Given the description of an element on the screen output the (x, y) to click on. 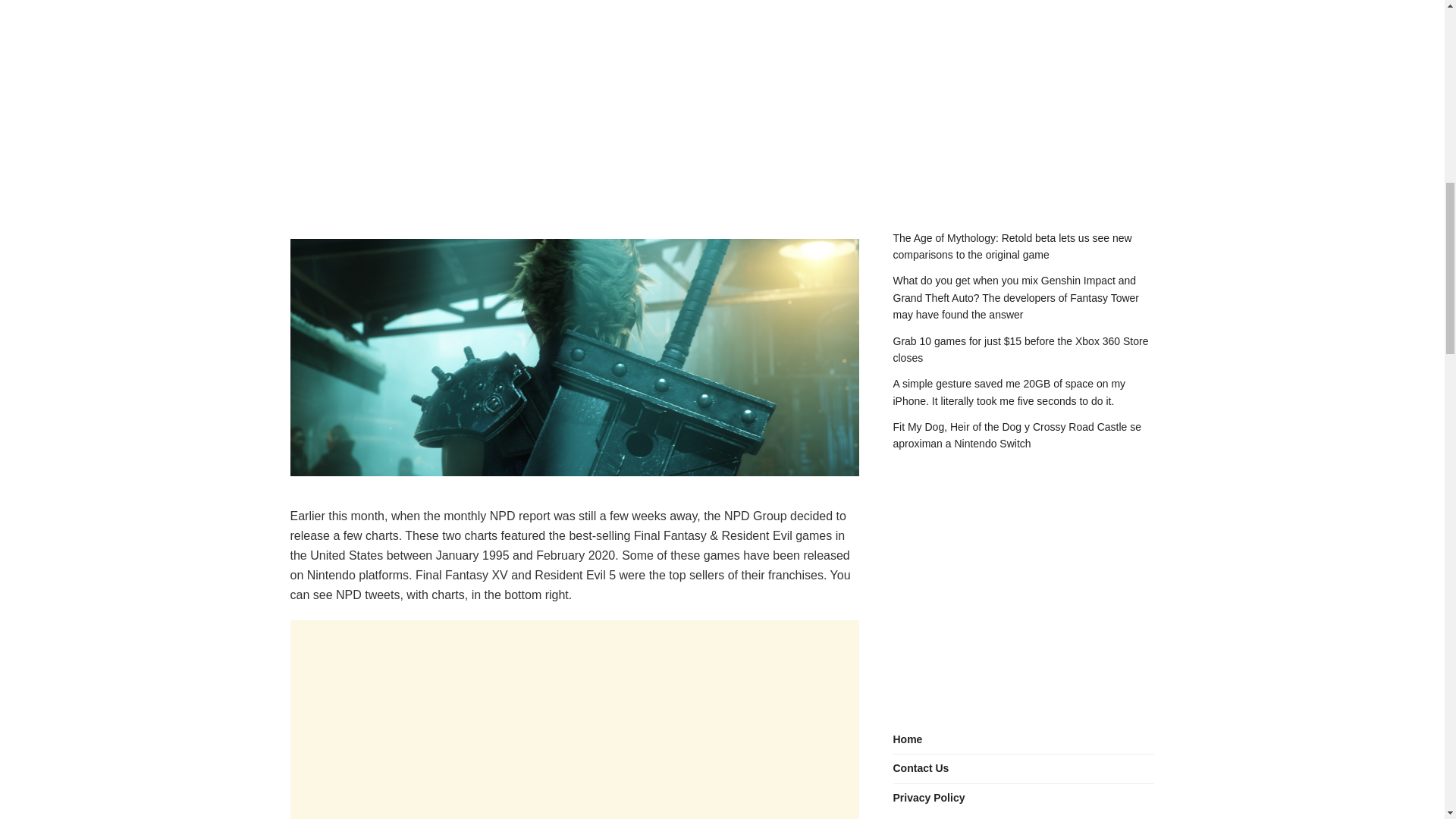
Advertisement (1023, 97)
Advertisement (574, 757)
Advertisement (1023, 589)
Advertisement (574, 657)
Home (908, 739)
Advertisement (574, 97)
